Given the description of an element on the screen output the (x, y) to click on. 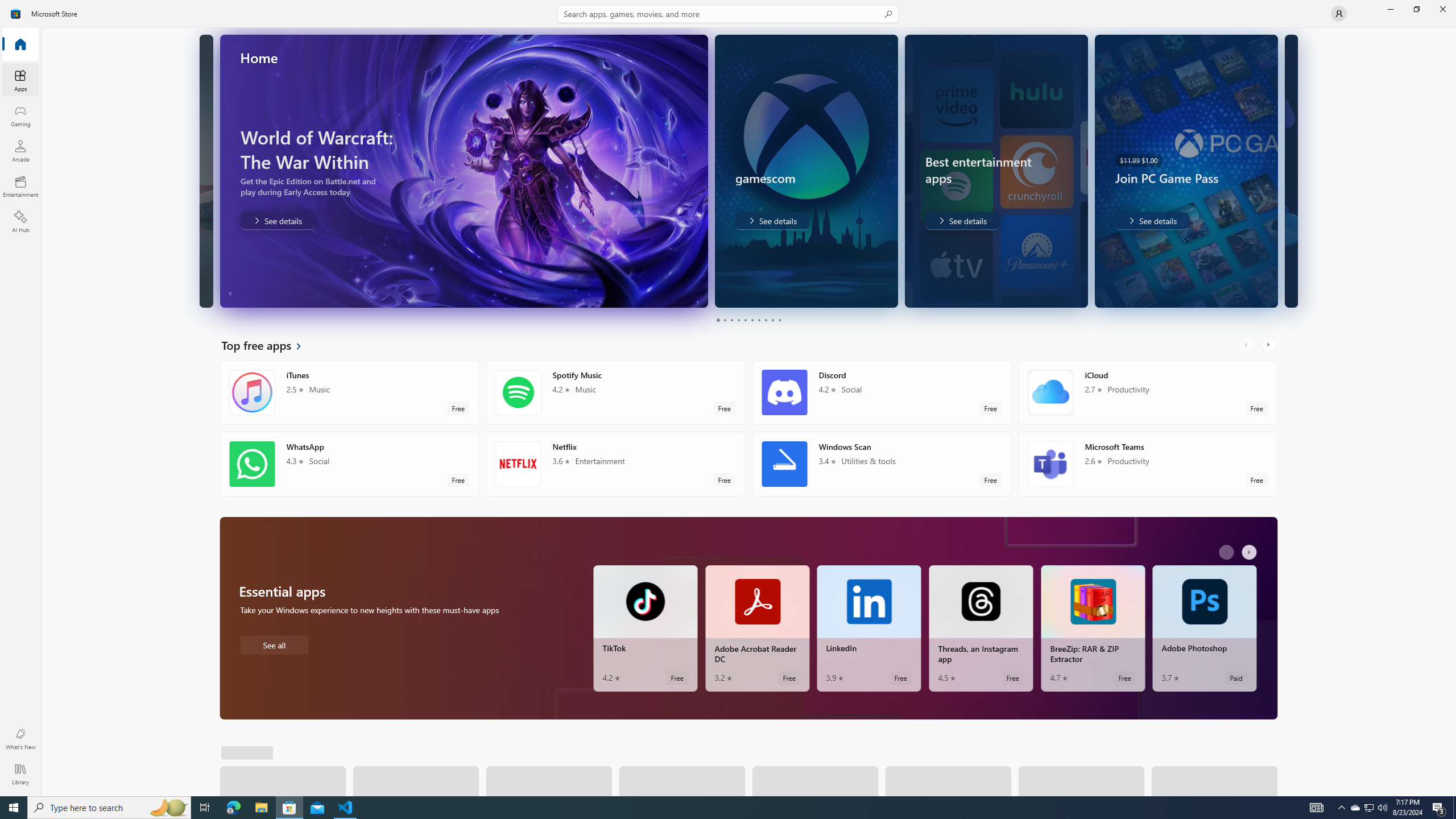
AutomationID: LeftScrollButton (1227, 551)
Entertainment (20, 185)
AutomationID: RightScrollButton (1250, 551)
Page 6 (751, 319)
Library (20, 773)
Search (727, 13)
Page 8 (764, 319)
See all  Essential apps (274, 644)
Page 5 (744, 319)
AI Hub (20, 221)
Discord. Average rating of 4.2 out of five stars. Free   (881, 392)
LinkedIn. Average rating of 3.9 out of five stars. Free   (868, 628)
